Given the description of an element on the screen output the (x, y) to click on. 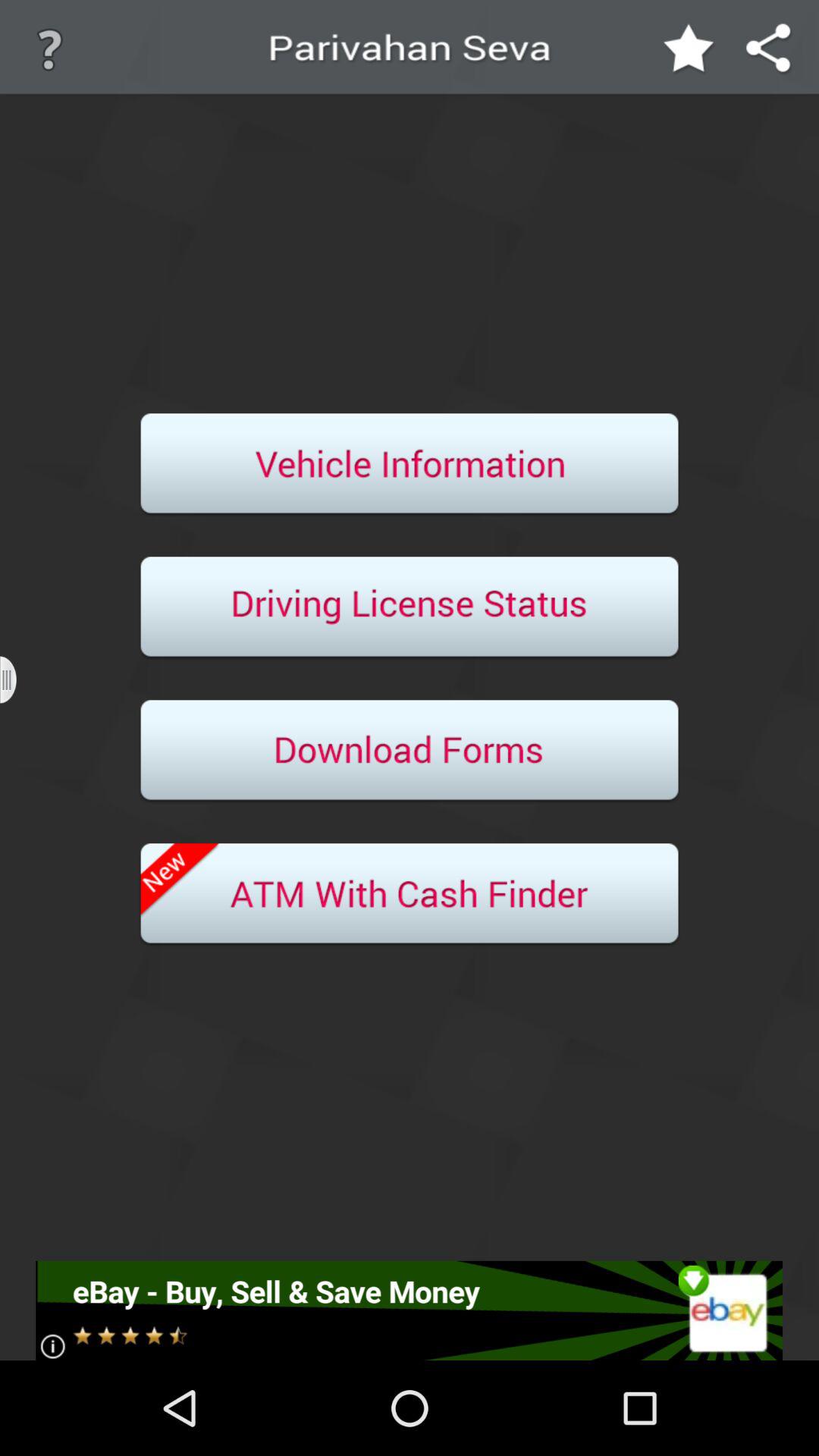
click to share (769, 49)
